Given the description of an element on the screen output the (x, y) to click on. 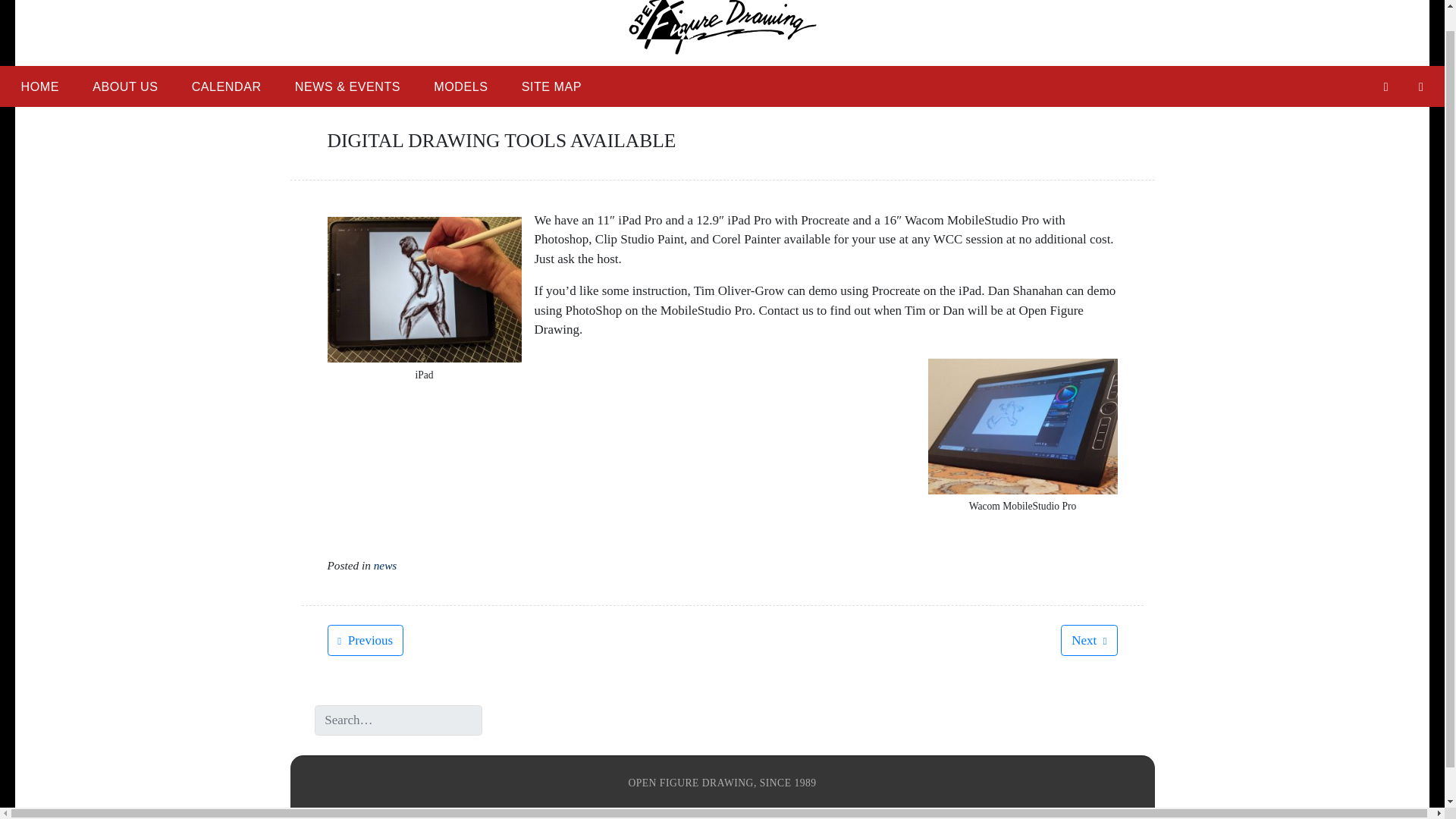
Next (1088, 638)
news (385, 564)
MODELS (460, 86)
CALENDAR (226, 86)
ABOUT US (125, 86)
HOME (39, 86)
SITE MAP (551, 86)
Previous (365, 638)
OPEN FIGURE DRAWING (474, 73)
